Given the description of an element on the screen output the (x, y) to click on. 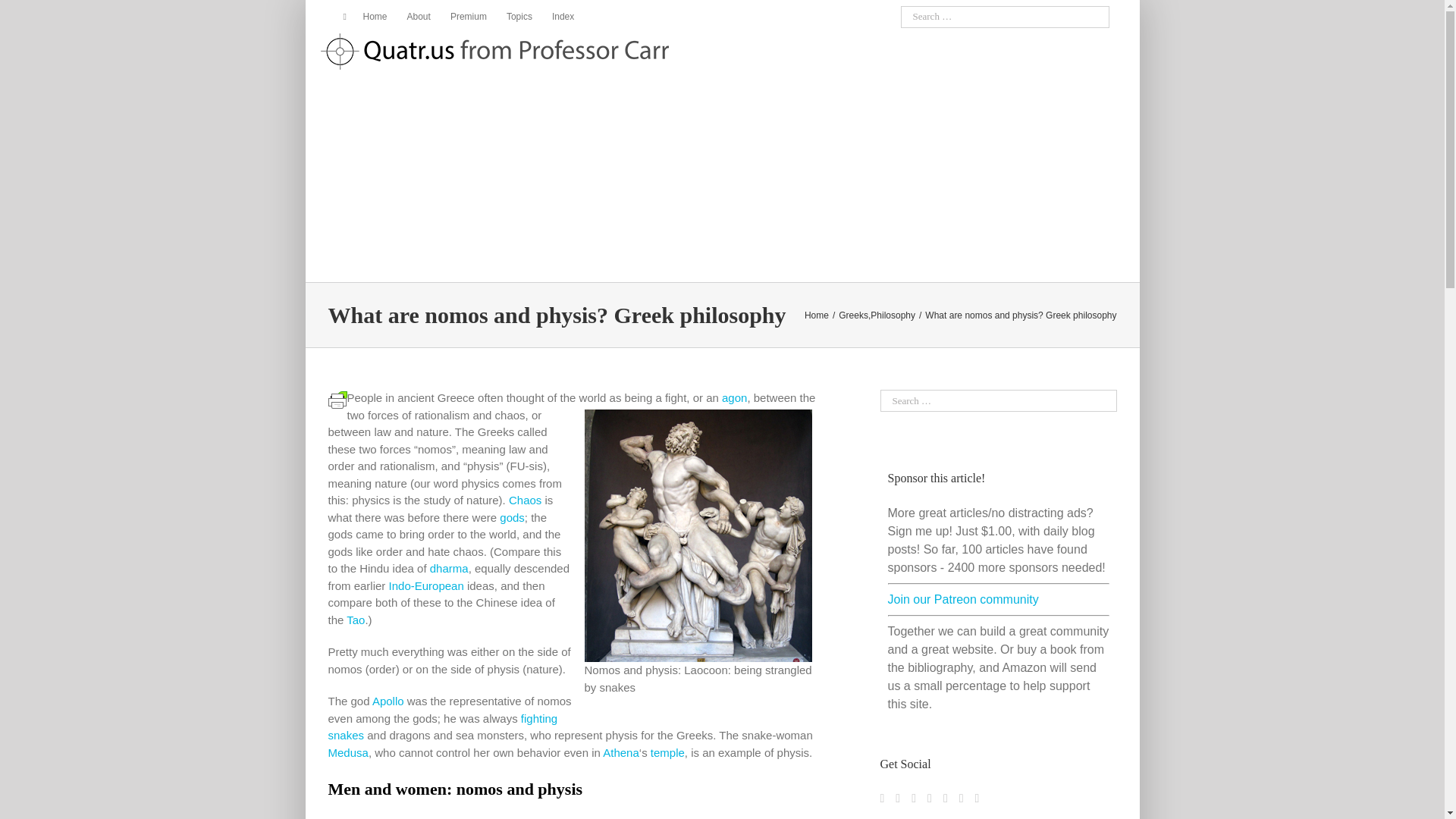
Philosophy (892, 314)
Greeks (852, 314)
About (419, 16)
agon (734, 397)
Topics (518, 16)
Home (816, 314)
Home (369, 16)
Premium (468, 16)
Search for: (1005, 16)
Index (562, 16)
